Given the description of an element on the screen output the (x, y) to click on. 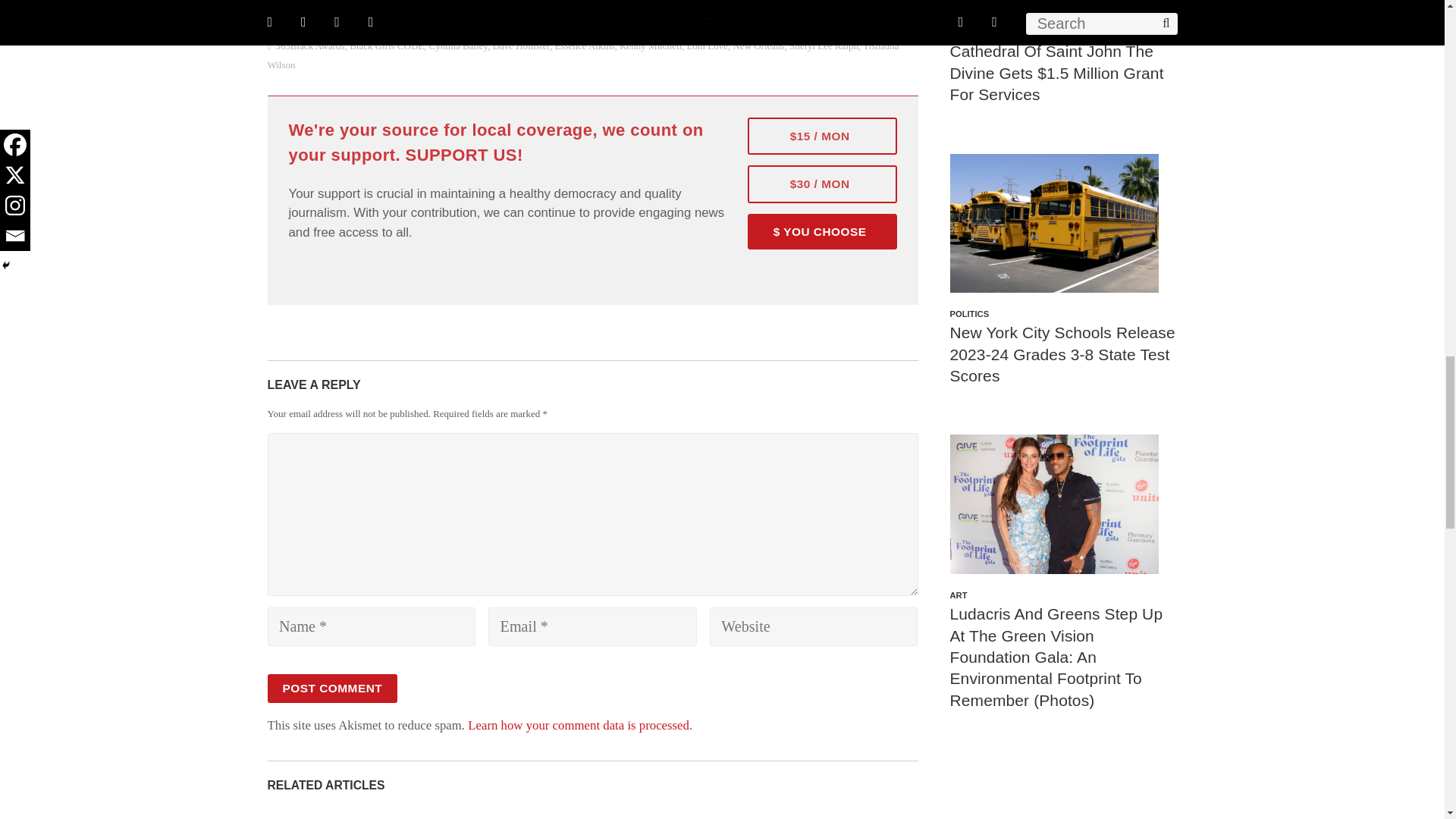
Essence Atkins (584, 45)
Cynthia Bailey (458, 45)
Sheryl Lee Ralph (824, 45)
Post Comment (331, 688)
Loni Love (707, 45)
Kenny Mitchell (650, 45)
Black Girls CODE (386, 45)
365Black Awards (310, 45)
Dave Hollister (521, 45)
Harlem (289, 2)
